Given the description of an element on the screen output the (x, y) to click on. 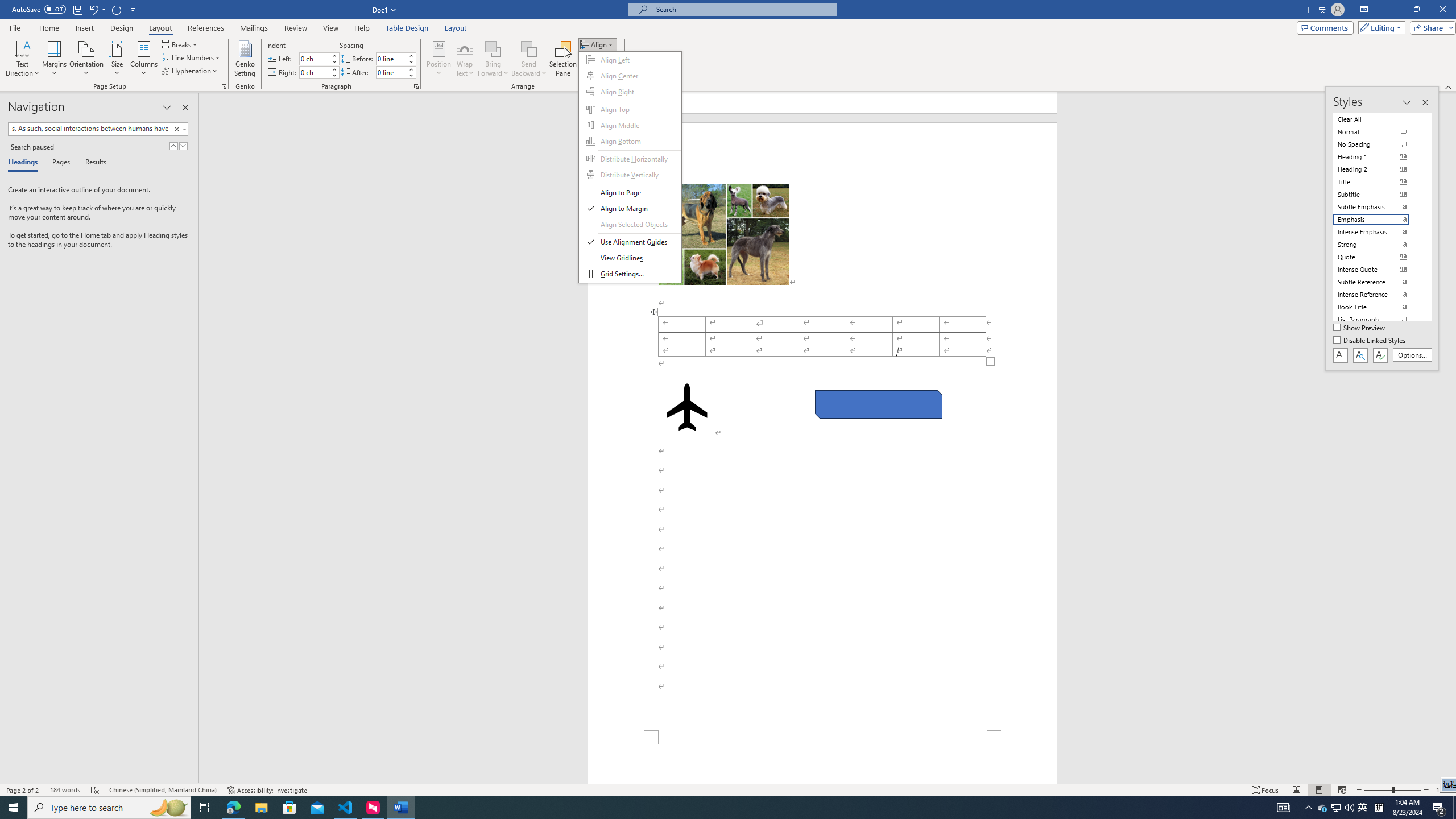
Columns (143, 58)
More (411, 69)
Class: NetUIButton (1380, 355)
Send Backward (528, 58)
Normal (1377, 131)
Bring Forward (492, 58)
